Given the description of an element on the screen output the (x, y) to click on. 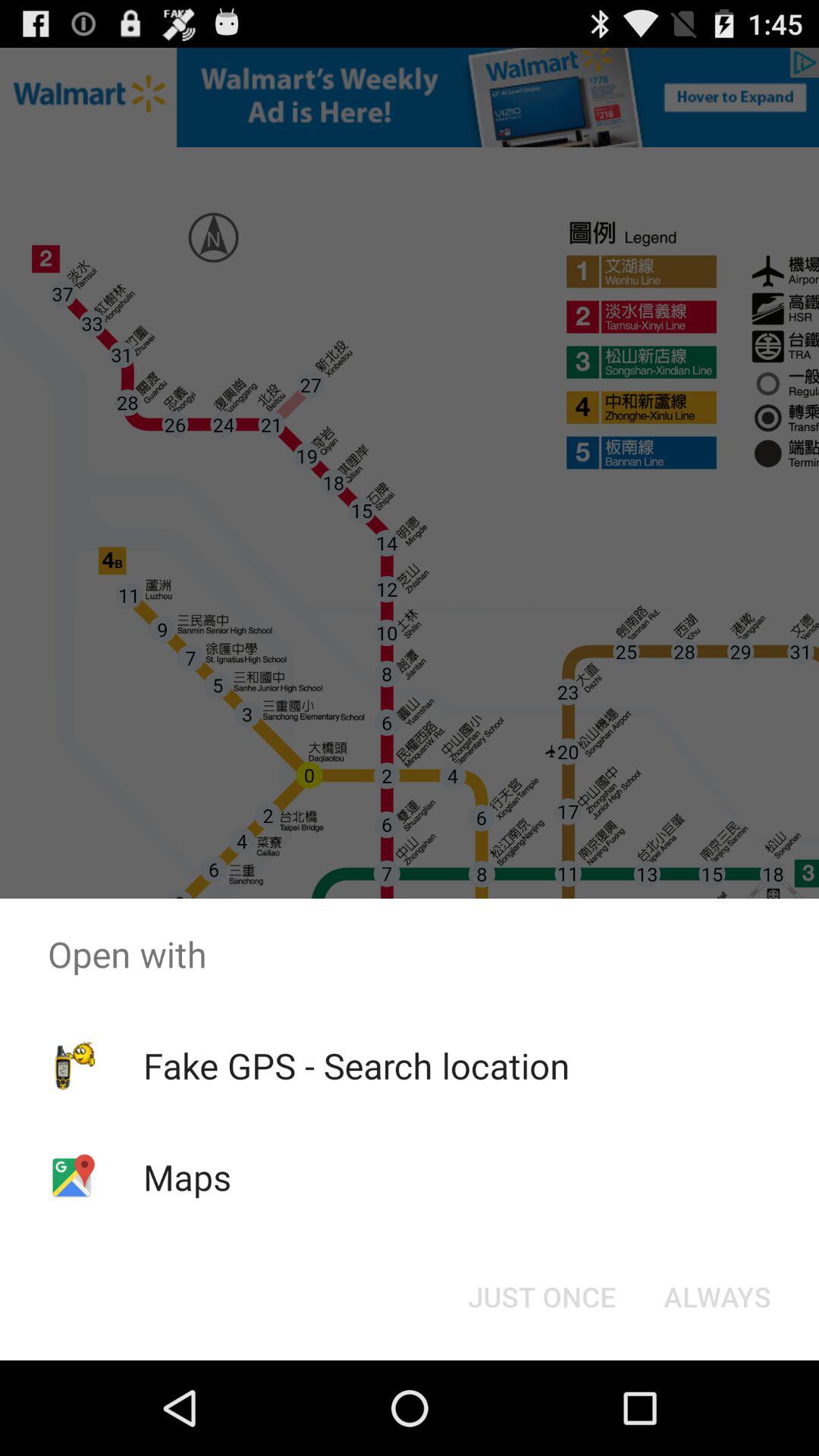
select item to the right of the just once item (717, 1296)
